Given the description of an element on the screen output the (x, y) to click on. 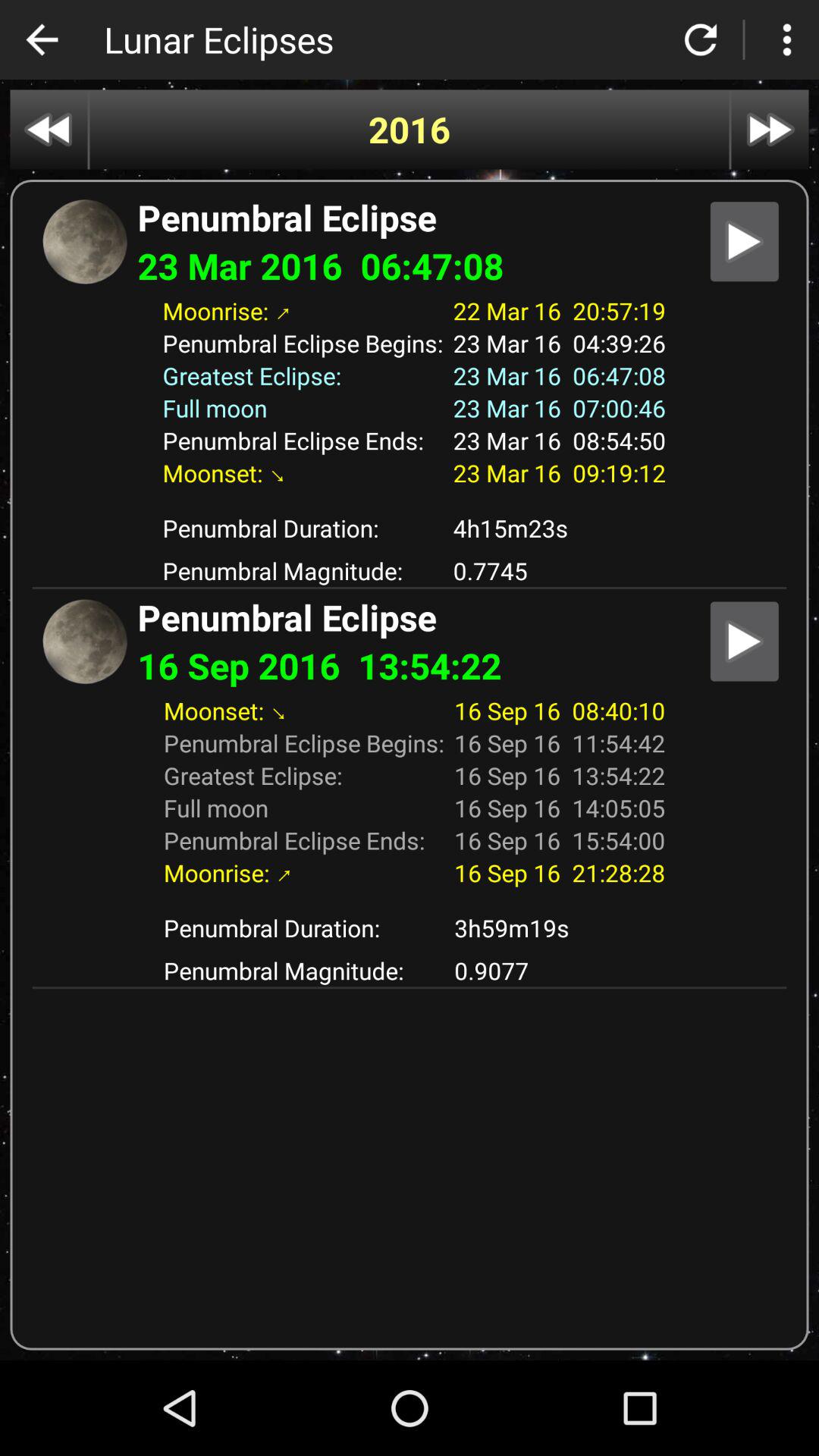
scroll until 4h15m23s app (559, 527)
